Given the description of an element on the screen output the (x, y) to click on. 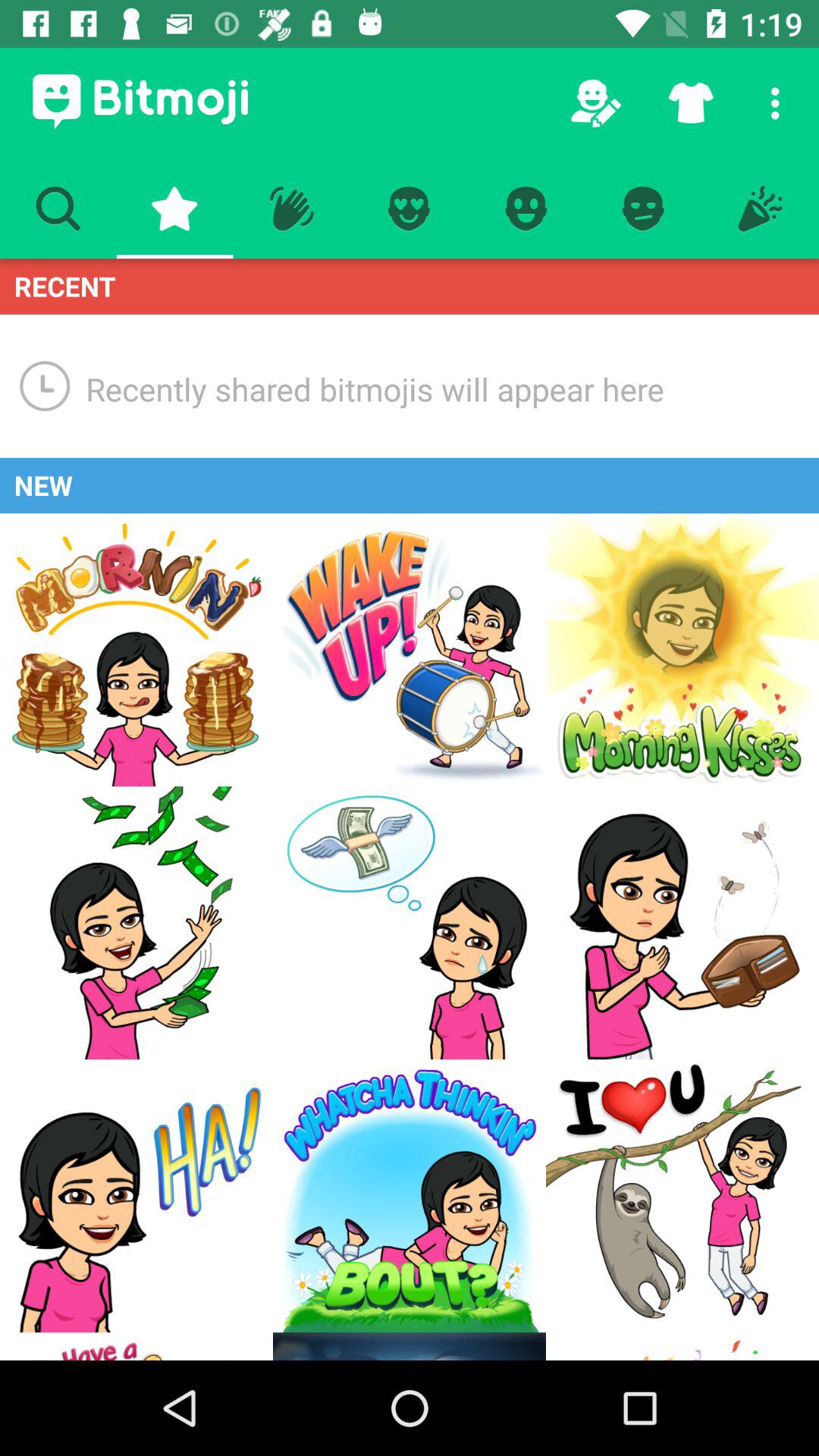
view image (409, 922)
